Given the description of an element on the screen output the (x, y) to click on. 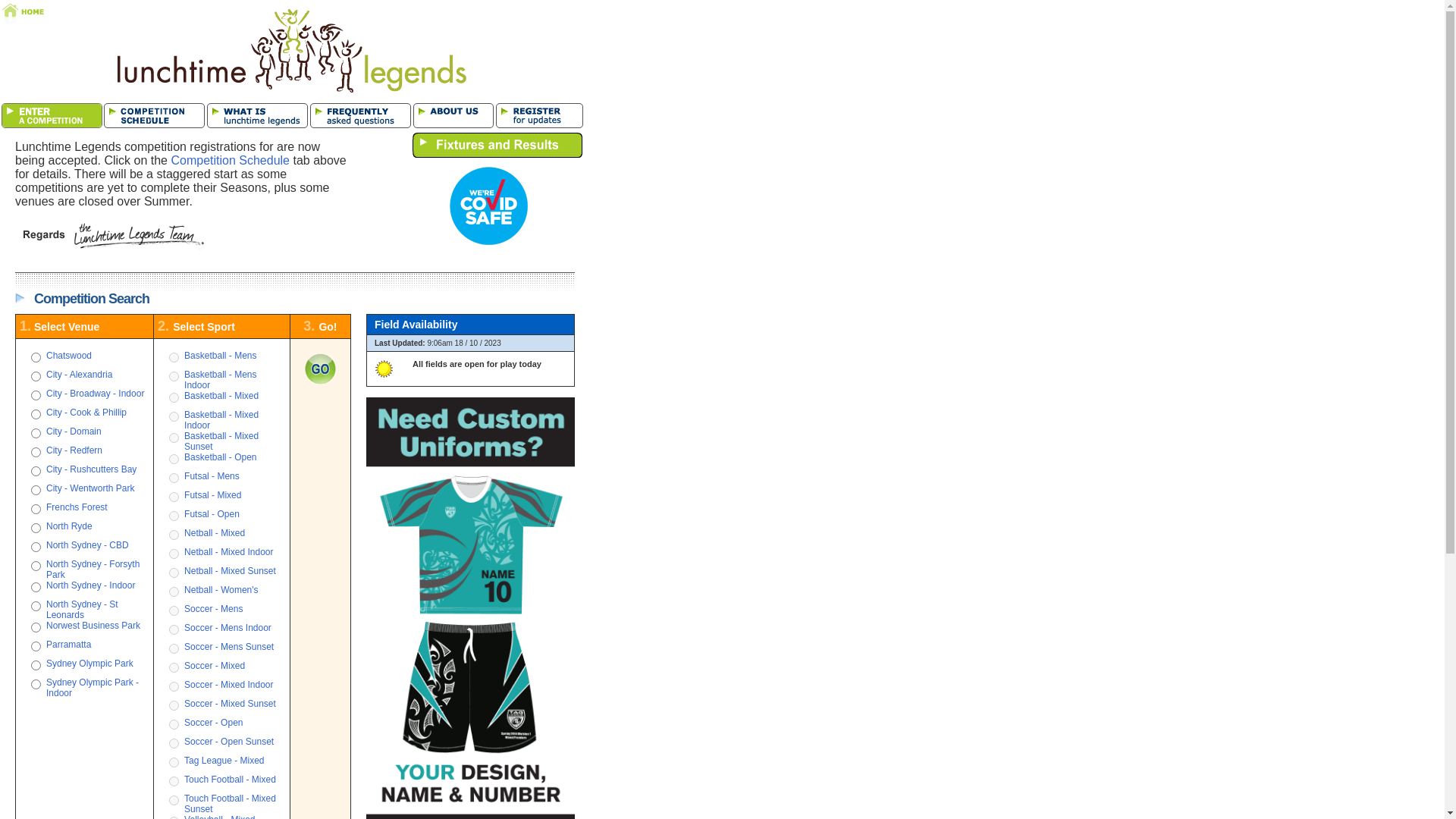
Parramatta Element type: text (68, 644)
Soccer - Mens Indoor Element type: text (227, 627)
Basketball - Mens Indoor Element type: text (220, 379)
North Sydney - CBD Element type: text (87, 544)
Basketball - Mixed Element type: text (221, 395)
Norwest Business Park Element type: text (93, 625)
City - Cook & Phillip Element type: text (86, 412)
199943 Element type: text (35, 414)
City - Alexandria Element type: text (79, 374)
We are a COVID Safe Business Element type: hover (488, 205)
Basketball - Mens Element type: text (220, 355)
Soccer - Mens Sunset Element type: text (228, 646)
Basketball - Open Element type: text (220, 456)
North Sydney - Indoor Element type: text (90, 585)
Netball - Mixed Sunset Element type: text (230, 570)
49674 Element type: text (35, 471)
Netball - Mixed Indoor Element type: text (228, 551)
Soccer - Mixed Indoor Element type: text (228, 684)
Touch Football - Mixed Sunset Element type: text (230, 803)
Soccer - Open Sunset Element type: text (228, 741)
Regards The Lunchtime Legends Team Element type: hover (110, 236)
Frenchs Forest Element type: text (76, 507)
Netball - Women's Element type: text (220, 589)
Chatswood Element type: text (68, 355)
294565 Element type: text (35, 547)
126 Element type: text (35, 665)
City - Redfern Element type: text (74, 450)
Netball - Mixed Element type: text (214, 532)
49593 Element type: text (35, 490)
49685 Element type: text (35, 566)
Sydney Olympic Park Element type: text (89, 663)
62929 Element type: text (35, 684)
City - Broadway - Indoor Element type: text (95, 393)
We are a COVID Safe Business Element type: hover (479, 243)
Soccer - Mixed Element type: text (214, 665)
Sydney Olympic Park - Indoor Element type: text (92, 687)
Competition Schedule Element type: text (229, 159)
Tag League - Mixed Element type: text (223, 760)
Futsal - Open Element type: text (211, 513)
294566 Element type: text (35, 606)
49675 Element type: text (35, 395)
50216 Element type: text (35, 376)
83 Element type: text (35, 433)
City - Wentworth Park Element type: text (90, 488)
Futsal - Mens Element type: text (211, 475)
10002 Element type: text (35, 627)
Soccer - Mens Element type: text (213, 608)
238589 Element type: text (35, 452)
Futsal - Mixed Element type: text (212, 494)
North Ryde Element type: text (69, 525)
North Sydney - St Leonards Element type: text (82, 609)
North Sydney - Forsyth Park Element type: text (92, 569)
127 Element type: text (35, 357)
Basketball - Mixed Indoor Element type: text (221, 419)
Basketball - Mixed Sunset Element type: text (221, 440)
124 Element type: text (35, 646)
City - Rushcutters Bay Element type: text (91, 469)
49686 Element type: text (35, 587)
123 Element type: text (35, 528)
Soccer - Mixed Sunset Element type: text (230, 703)
Soccer - Open Element type: text (213, 722)
Touch Football - Mixed Element type: text (230, 779)
City - Domain Element type: text (73, 431)
125 Element type: text (35, 509)
